Given the description of an element on the screen output the (x, y) to click on. 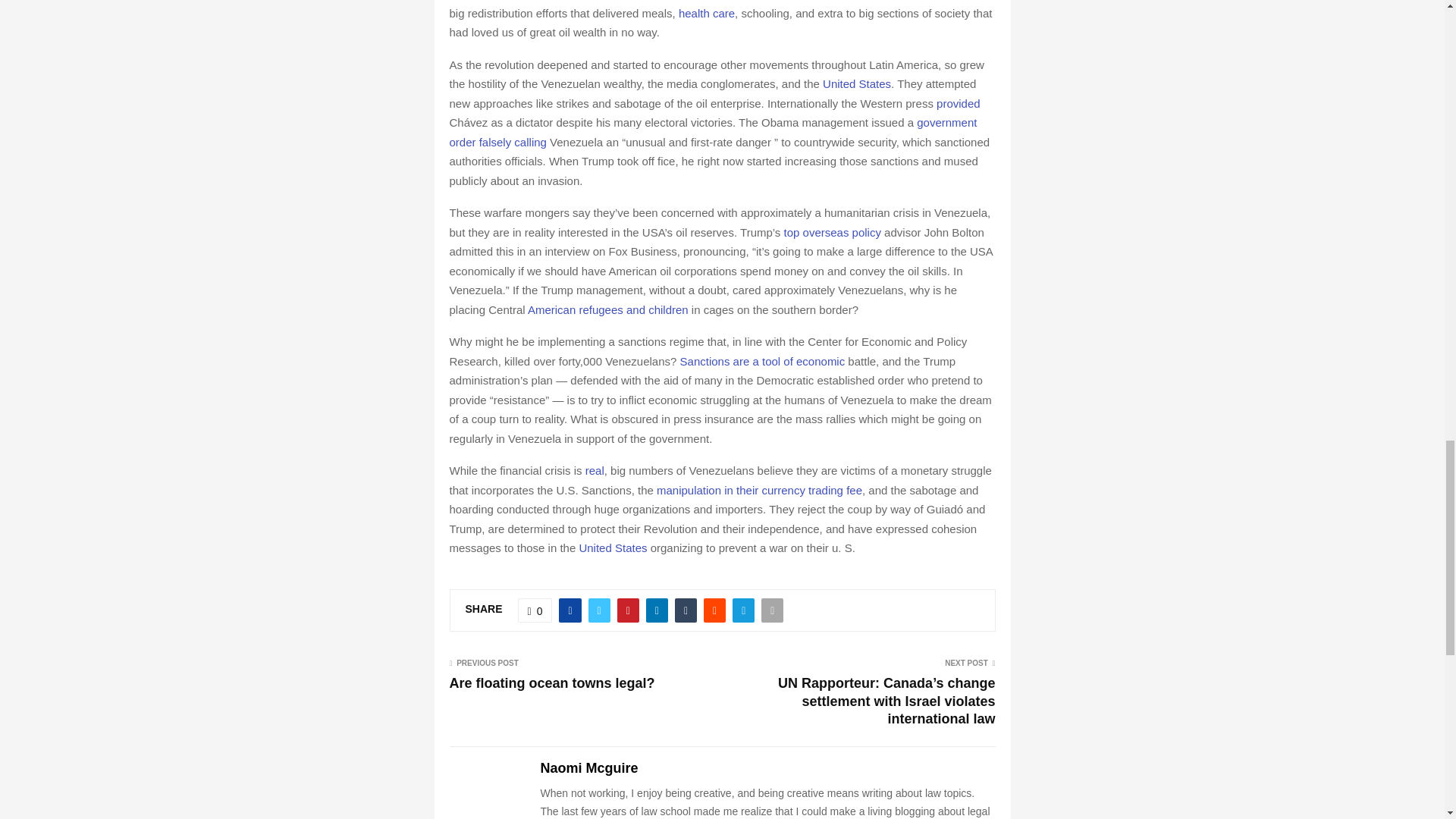
Like (535, 610)
